Given the description of an element on the screen output the (x, y) to click on. 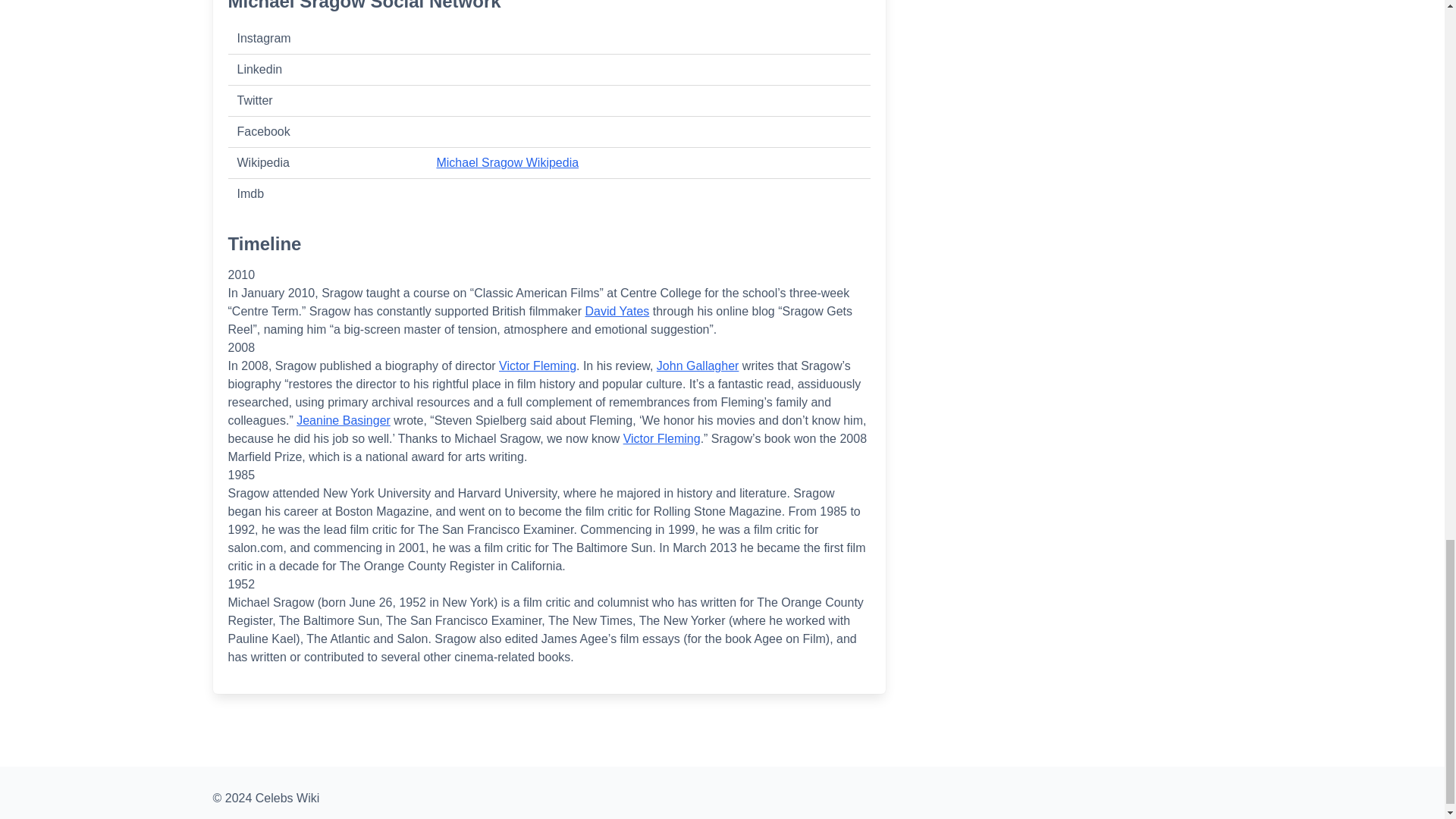
Jeanine Basinger (343, 420)
Victor Fleming (537, 365)
David Yates (617, 310)
John Gallagher (697, 365)
Michael Sragow Wikipedia (506, 162)
Victor Fleming (661, 438)
